Given the description of an element on the screen output the (x, y) to click on. 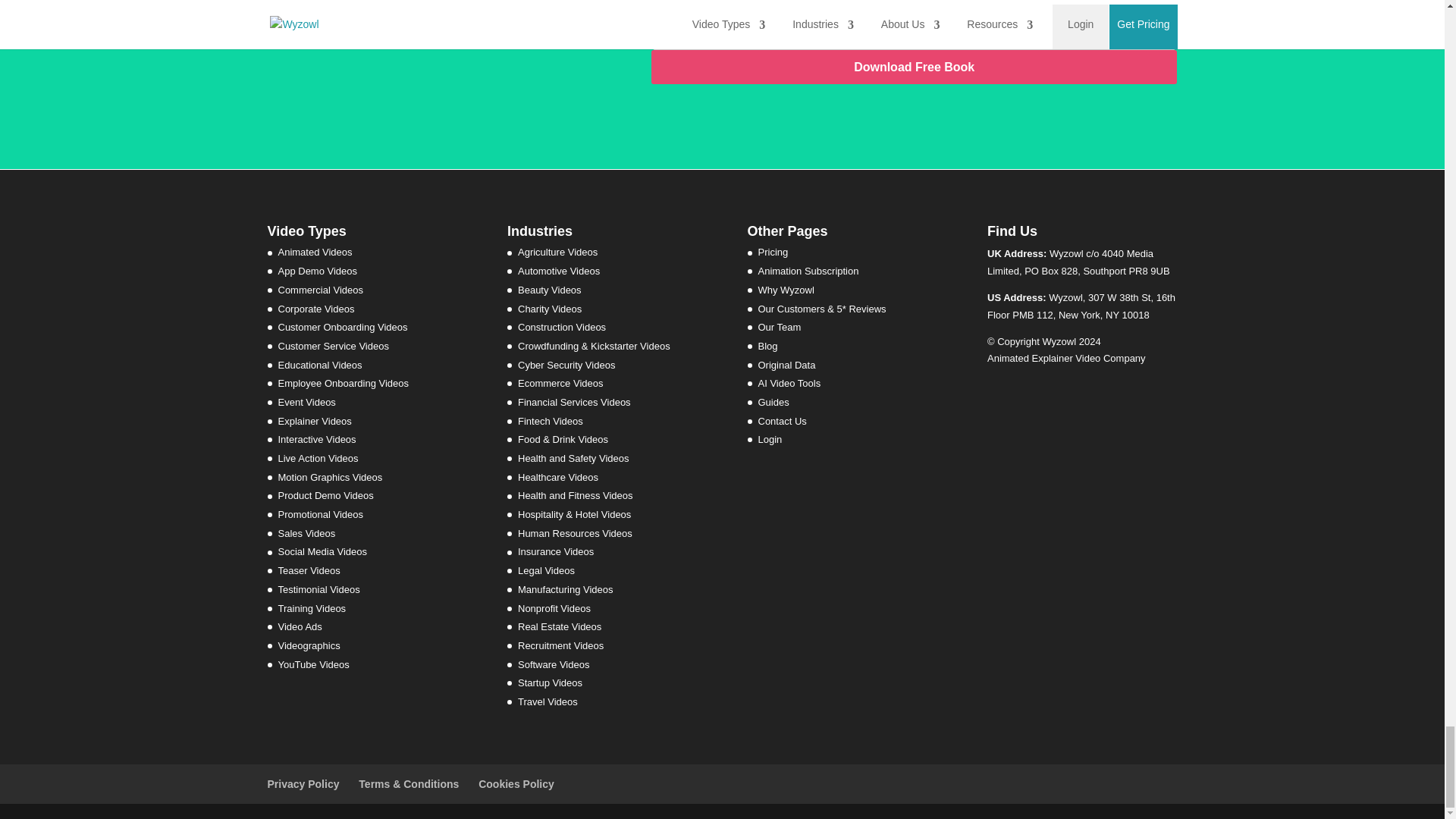
Download Free Book (913, 66)
